Given the description of an element on the screen output the (x, y) to click on. 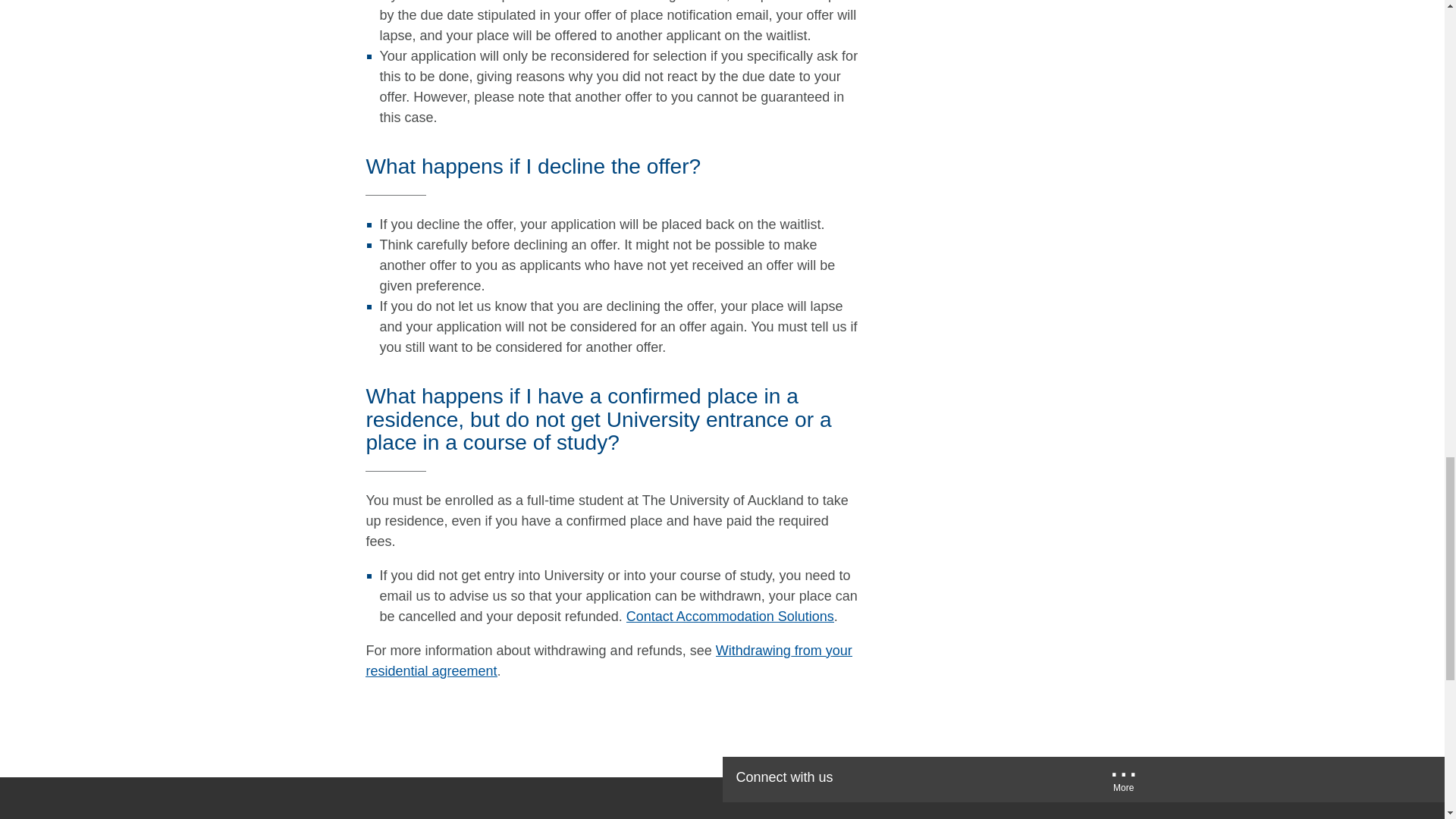
LinkedIn (1021, 778)
Twitter (925, 778)
Facebook (876, 778)
YouTube (972, 778)
University of Auckland More Social... (1123, 783)
Instagram (1069, 778)
